Given the description of an element on the screen output the (x, y) to click on. 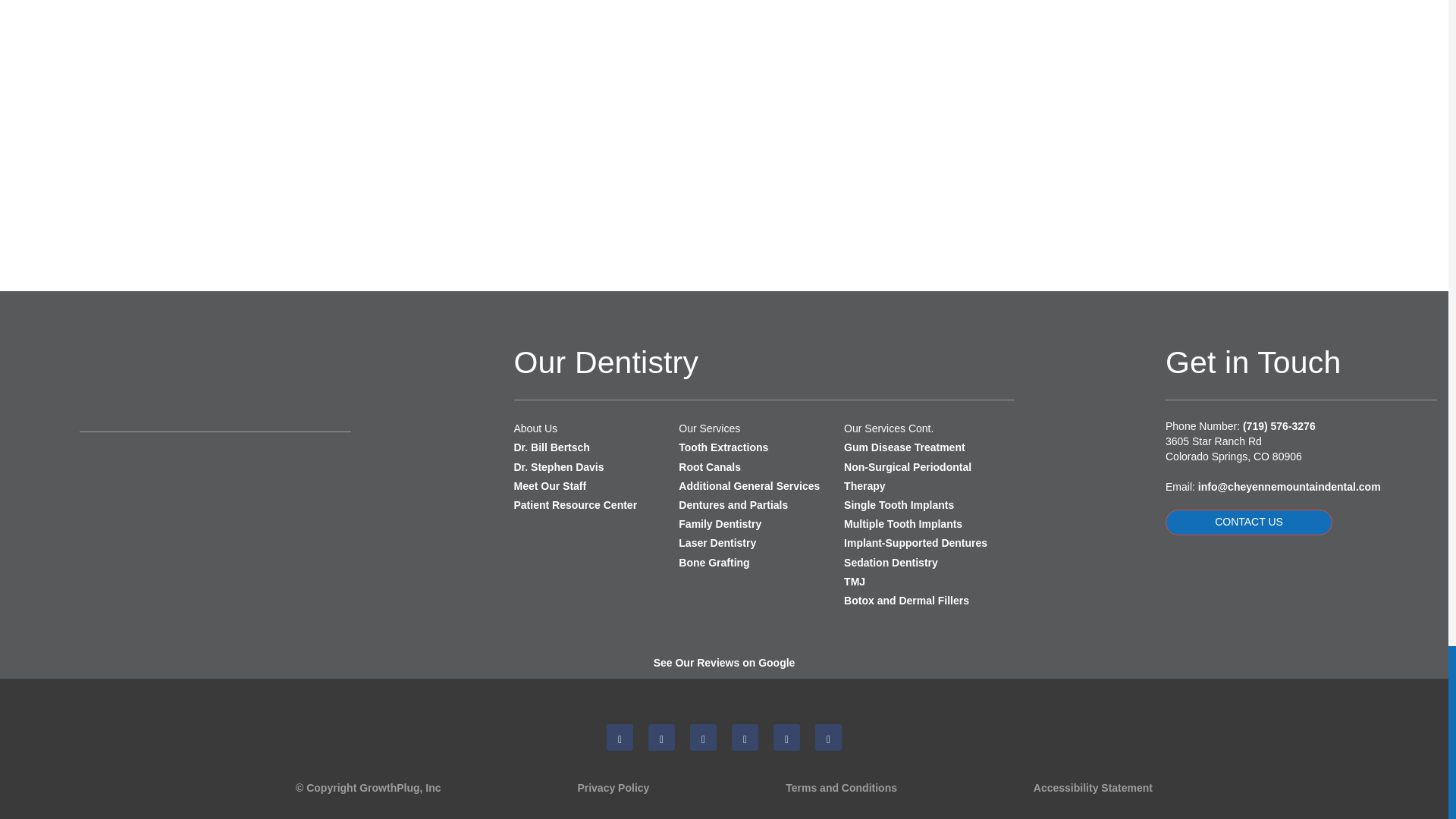
CHEYENNE MOUNTAIN DENTAL (164, 378)
